Given the description of an element on the screen output the (x, y) to click on. 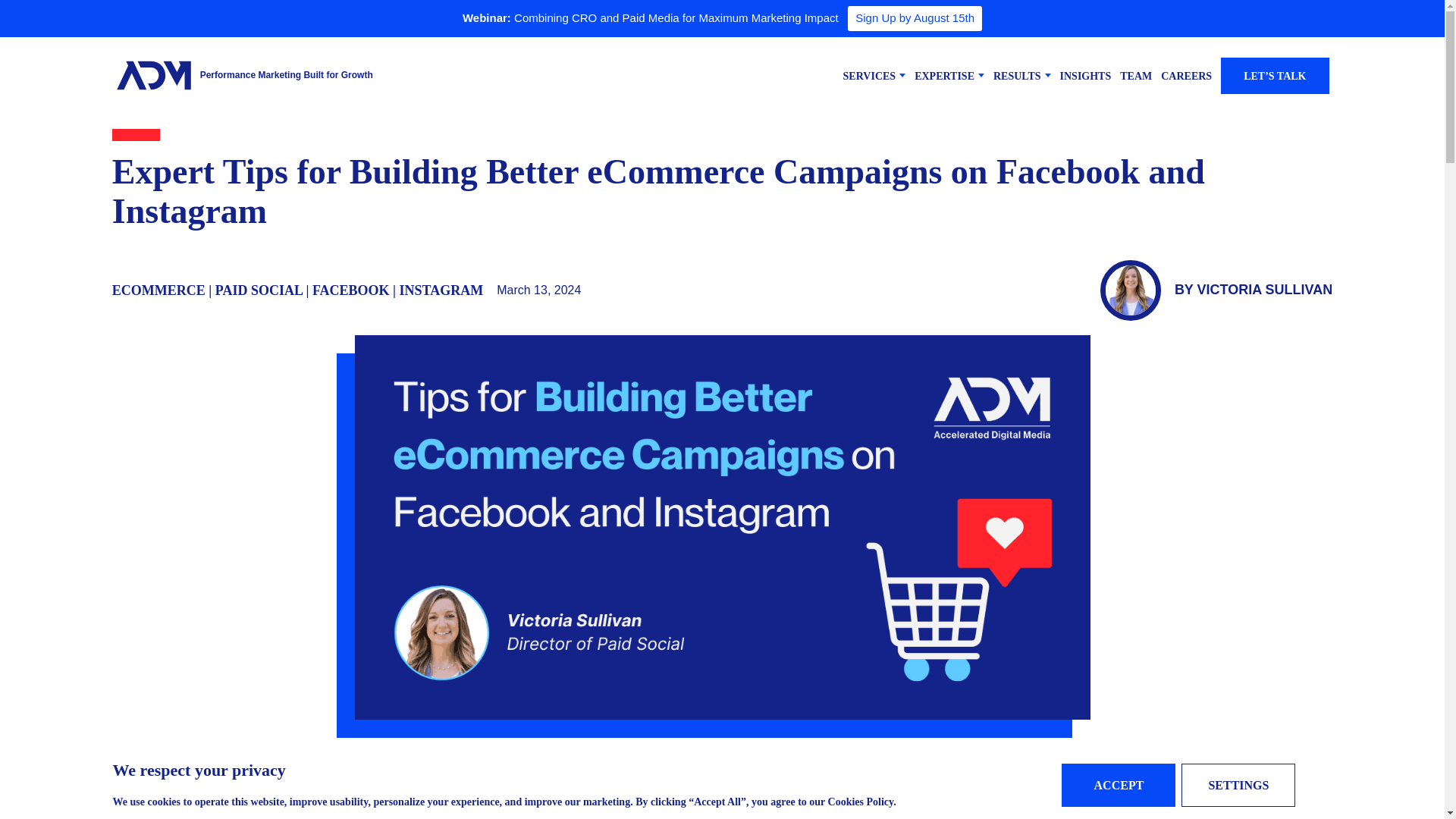
RESULTS (1021, 75)
Performance Marketing Built for Growth (286, 74)
Sign Up by August 15th (914, 18)
INSIGHTS (1085, 75)
ECOMMERCE (158, 290)
CAREERS (1185, 75)
TEAM (1135, 75)
SERVICES (874, 75)
EXPERTISE (949, 75)
